Given the description of an element on the screen output the (x, y) to click on. 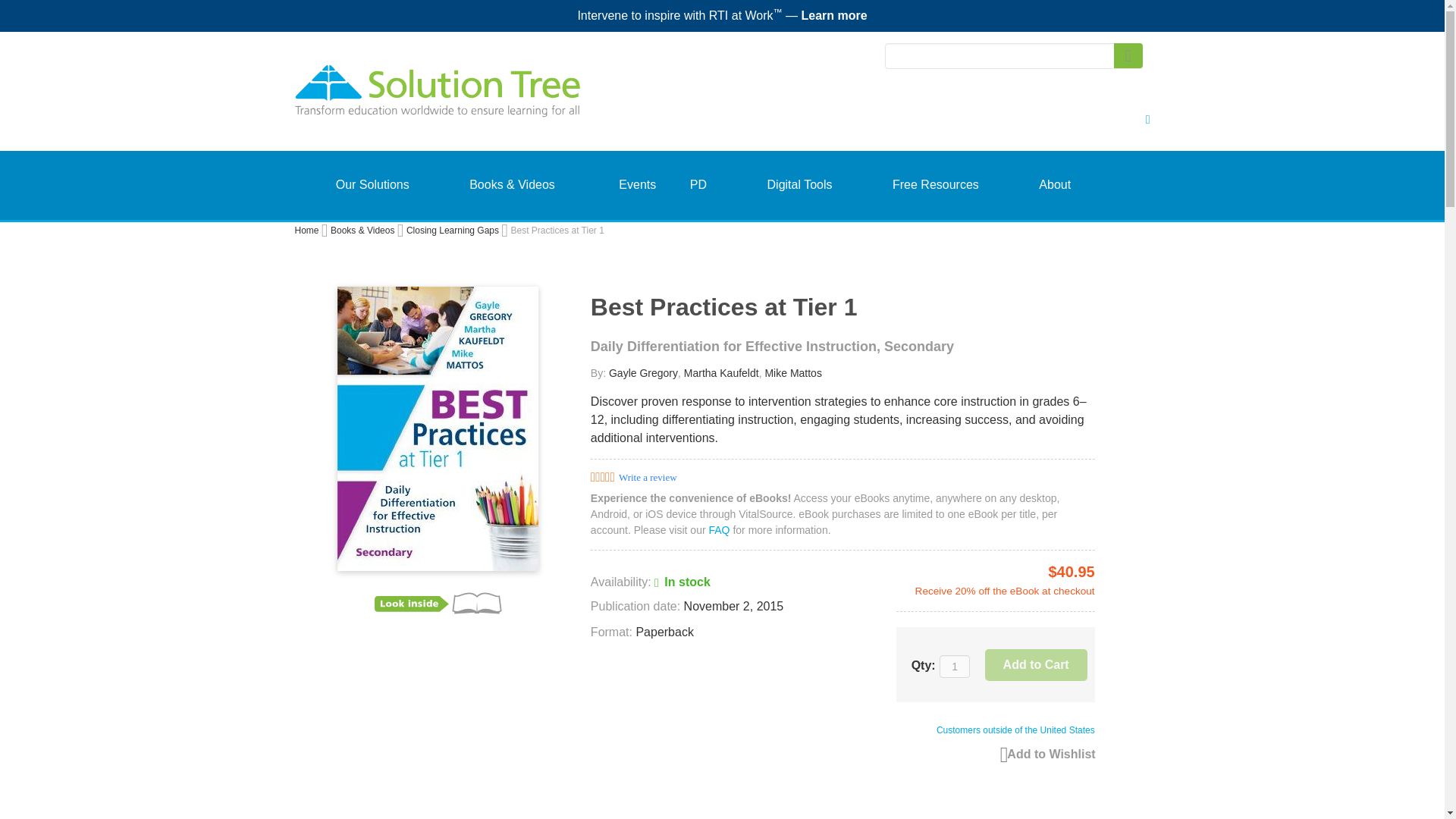
Go to Home Page (306, 230)
Search (1127, 55)
Solution Tree (494, 98)
Qty: (954, 666)
Add to Cart (1036, 664)
Learn more (833, 15)
Search (1127, 55)
1 (954, 666)
Our Solutions (372, 185)
Availability (650, 582)
